Given the description of an element on the screen output the (x, y) to click on. 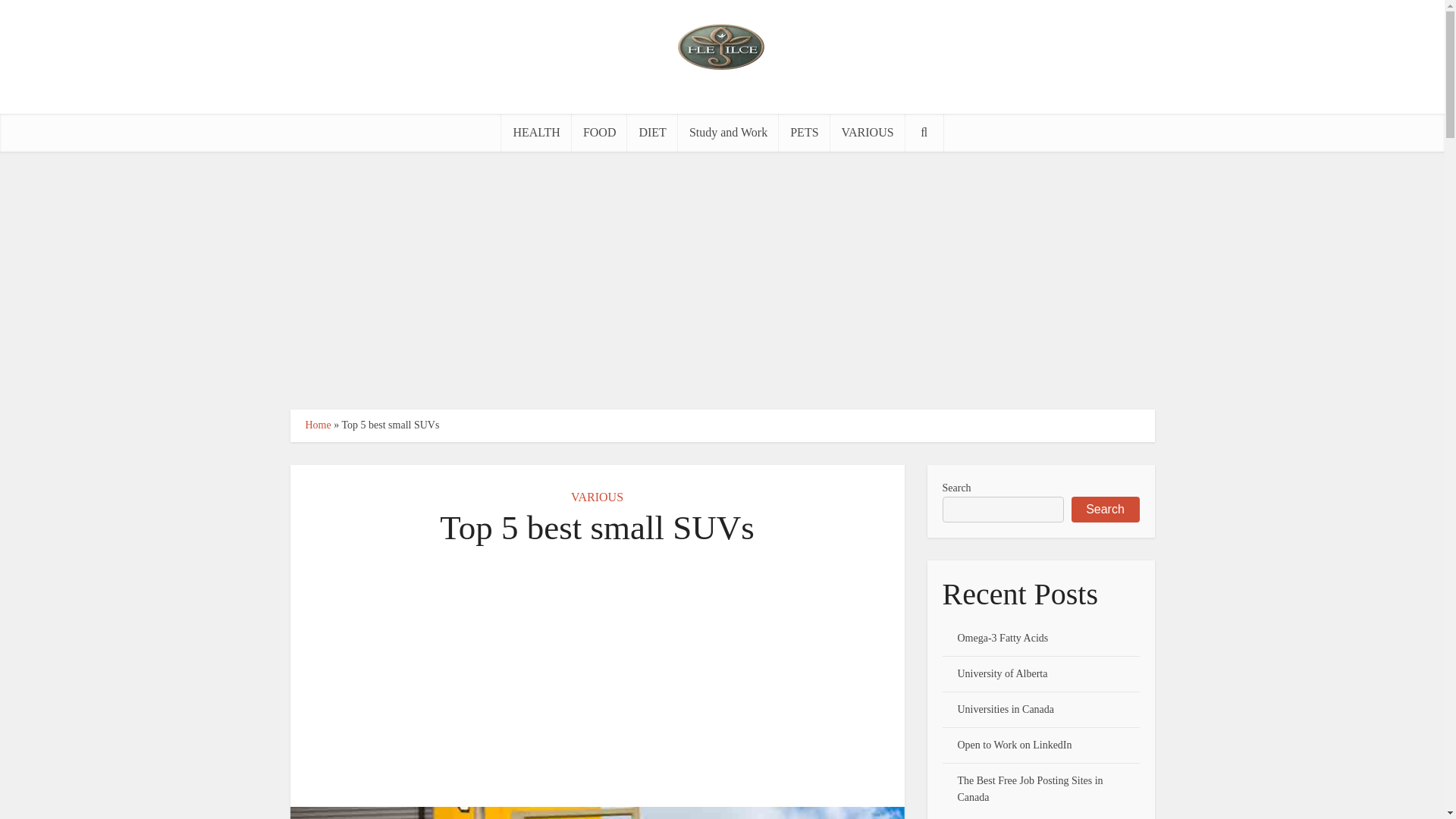
VARIOUS (867, 132)
PETS (803, 132)
Advertisement (721, 280)
Home (317, 424)
DIET (652, 132)
HEALTH (536, 132)
Advertisement (597, 677)
FOOD (599, 132)
Study and Work (728, 132)
VARIOUS (596, 496)
